Given the description of an element on the screen output the (x, y) to click on. 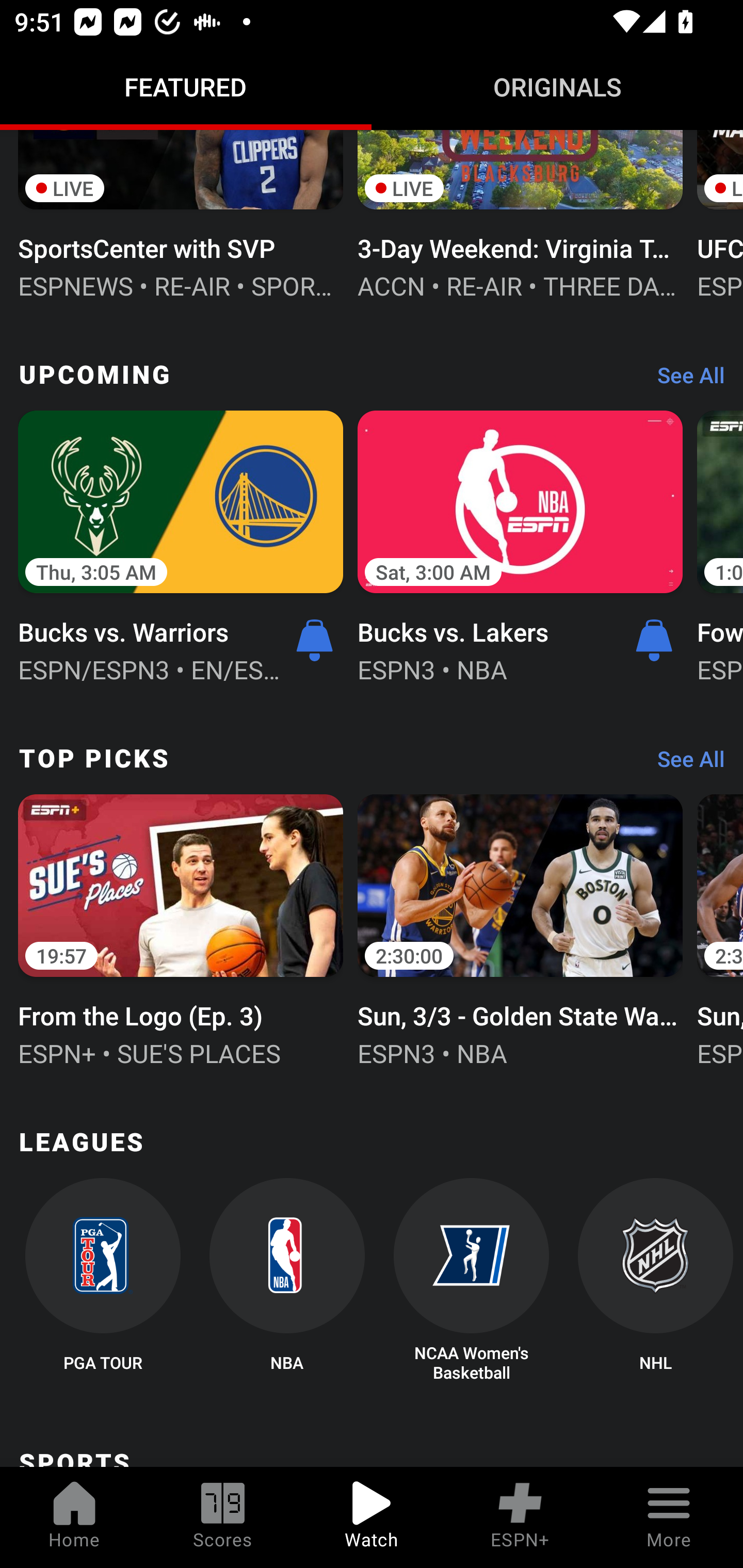
Originals ORIGINALS (557, 86)
See All (683, 379)
See All (683, 763)
19:57 From the Logo (Ep. 3) ESPN+ • SUE'S PLACES (180, 928)
PGA TOUR (102, 1280)
NBA (286, 1280)
NCAA Women's Basketball (471, 1280)
NHL (655, 1280)
Home (74, 1517)
Scores (222, 1517)
ESPN+ (519, 1517)
More (668, 1517)
